Given the description of an element on the screen output the (x, y) to click on. 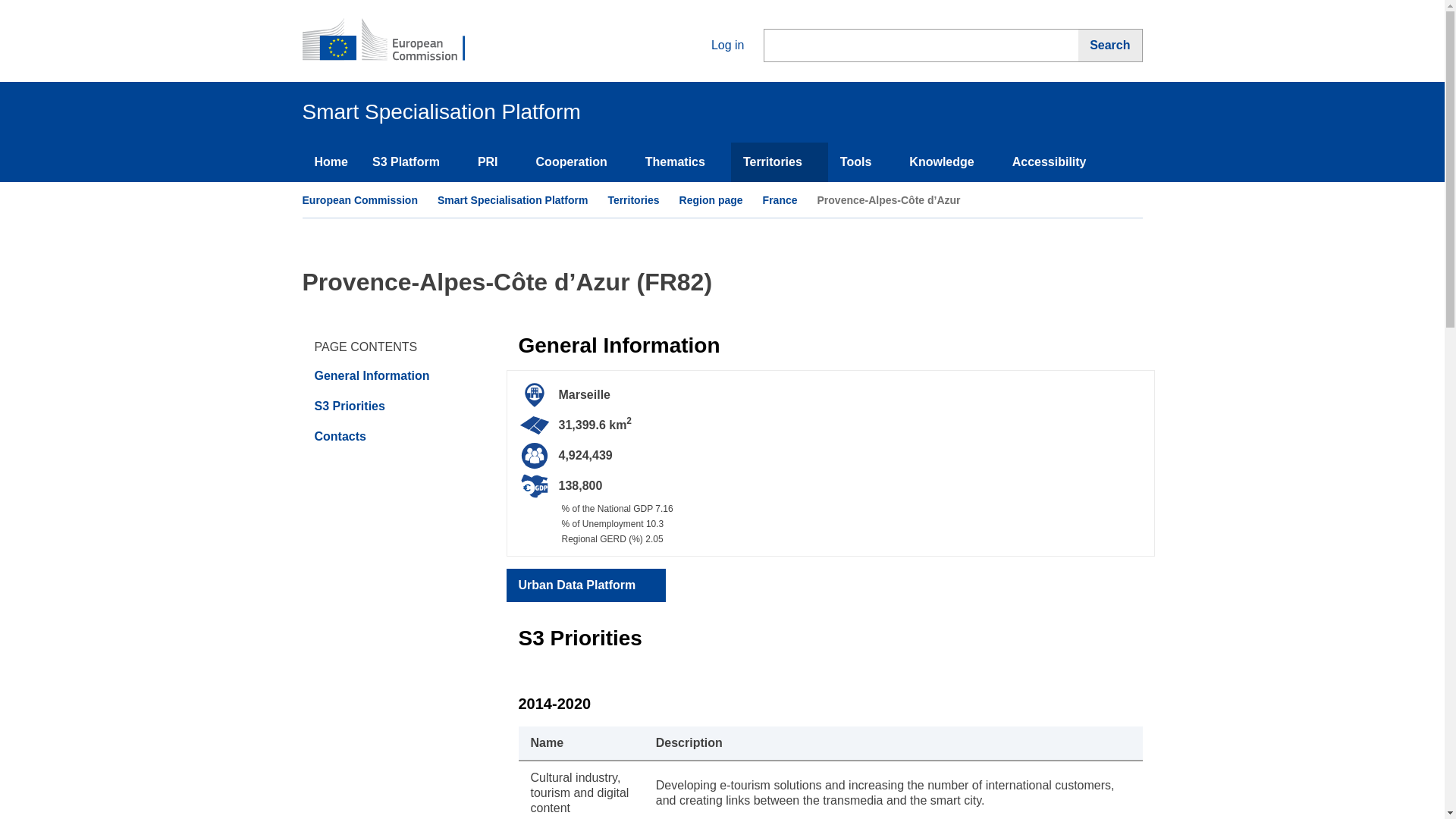
Search (1109, 45)
Cooperation (578, 161)
Territories (779, 161)
Thematics (681, 161)
Tools (862, 161)
Home (330, 161)
PRI (494, 161)
Log in (715, 44)
European Commission (392, 40)
S3 Platform (412, 161)
